Given the description of an element on the screen output the (x, y) to click on. 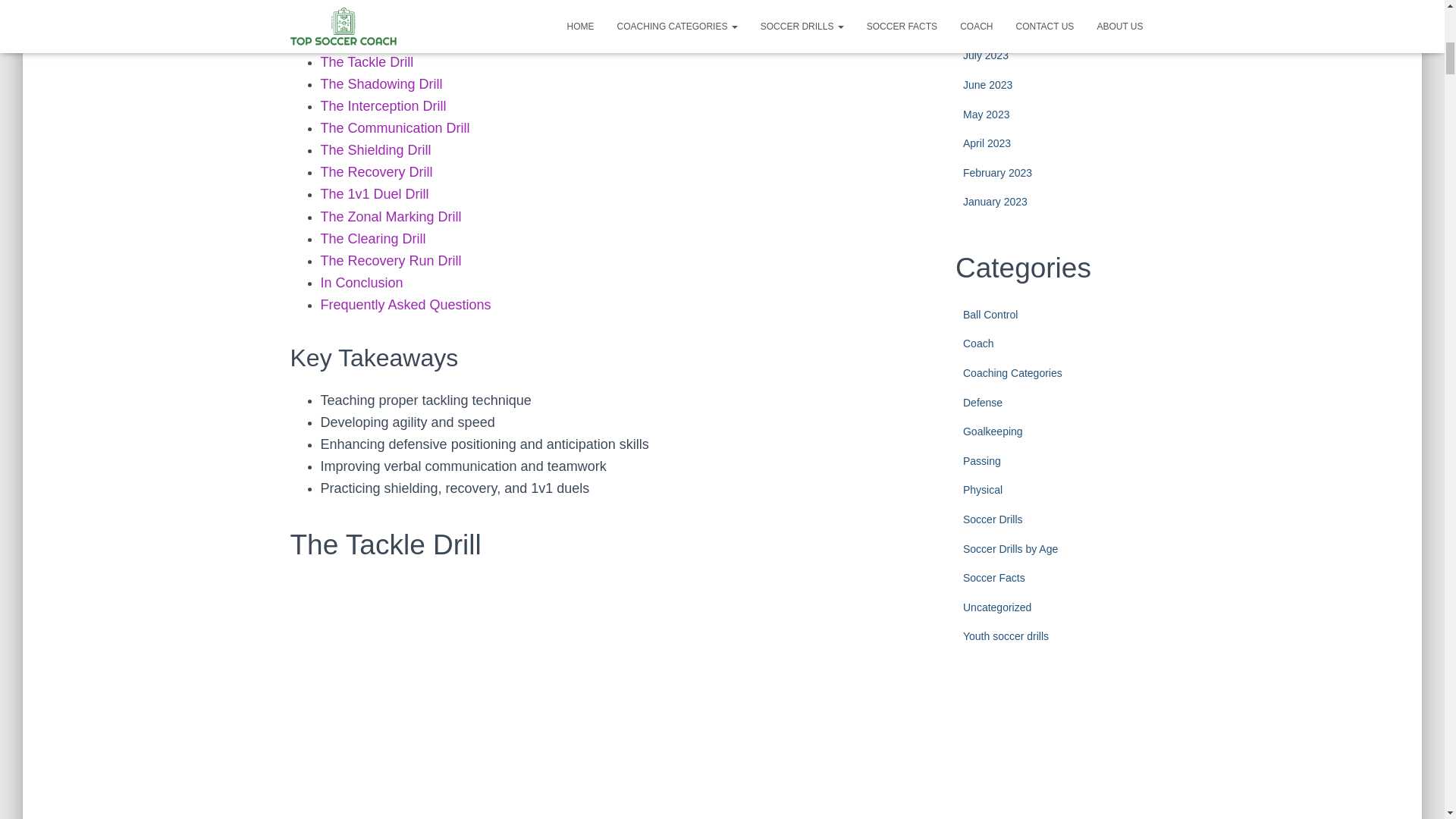
The Communication Drill (394, 127)
U10 defensive soccer drills (401, 39)
Frequently Asked Questions (405, 304)
The 1v1 Duel Drill (374, 193)
The Shadowing Drill (381, 83)
The Clearing Drill (372, 238)
The Tackle Drill (366, 61)
The Recovery Drill (376, 171)
The Recovery Run Drill (390, 260)
The Zonal Marking Drill (390, 216)
